Given the description of an element on the screen output the (x, y) to click on. 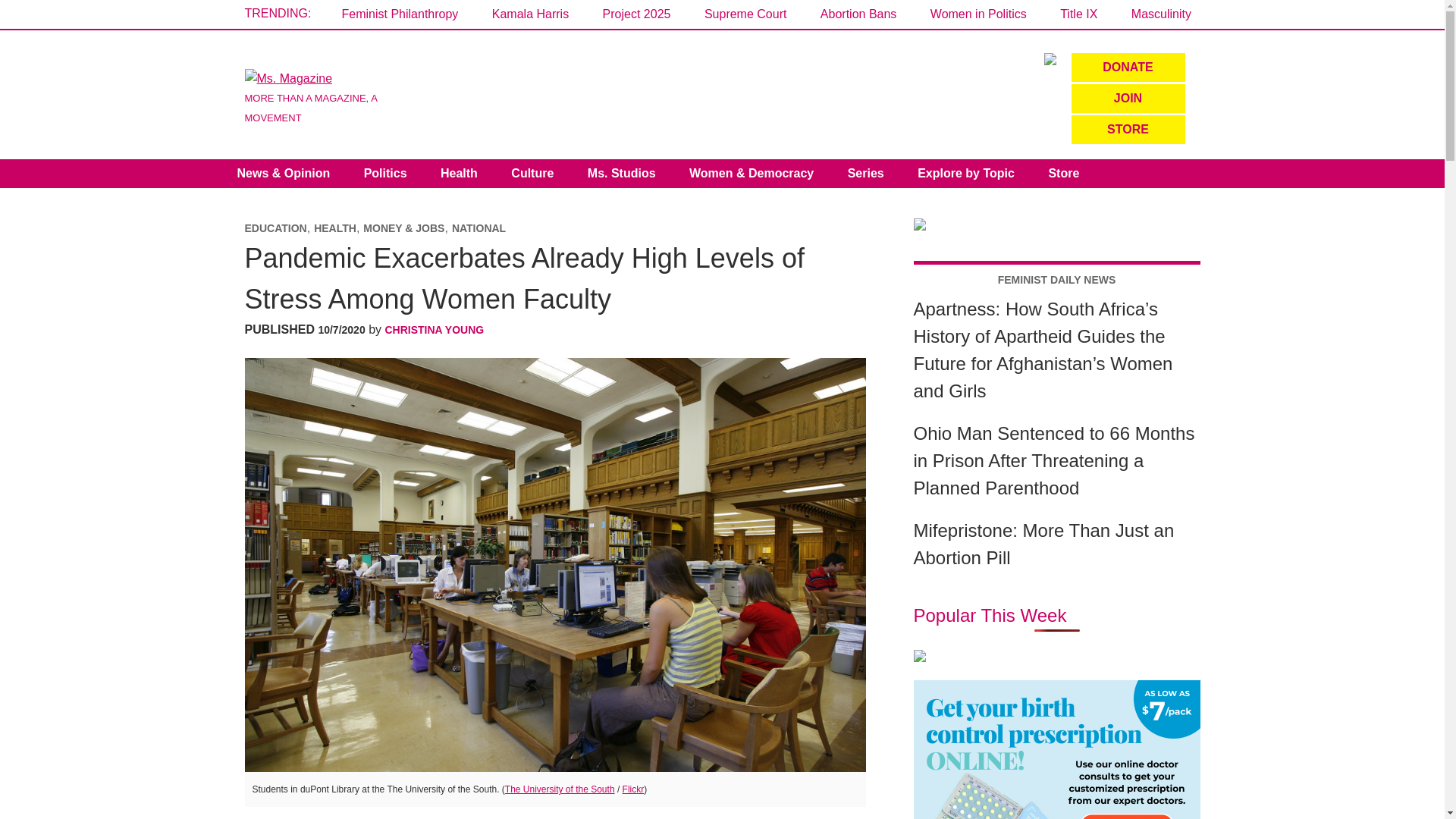
STORE (1127, 129)
Flickr (634, 788)
HEALTH (335, 227)
Feminist Philanthropy (399, 13)
DONATE (1127, 67)
Supreme Court (745, 13)
EDUCATION (274, 227)
Store (1063, 173)
JOIN (1127, 98)
